Given the description of an element on the screen output the (x, y) to click on. 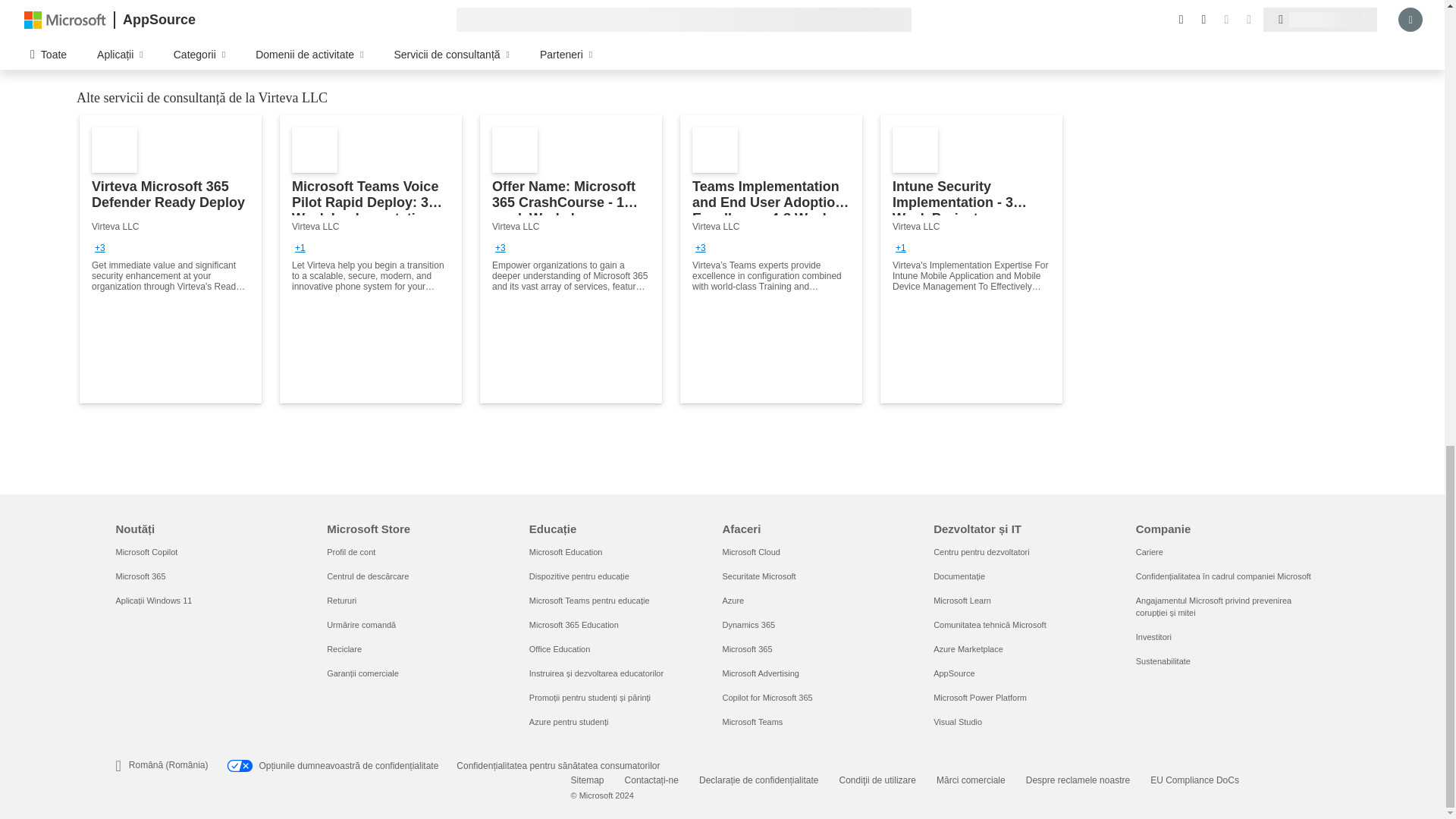
Microsoft 365 Education (573, 624)
Retururi (341, 600)
Microsoft Copilot (146, 551)
Microsoft 365 (140, 575)
Office Education (560, 648)
Profil de cont (350, 551)
Reciclare (343, 648)
Microsoft Education (565, 551)
